Given the description of an element on the screen output the (x, y) to click on. 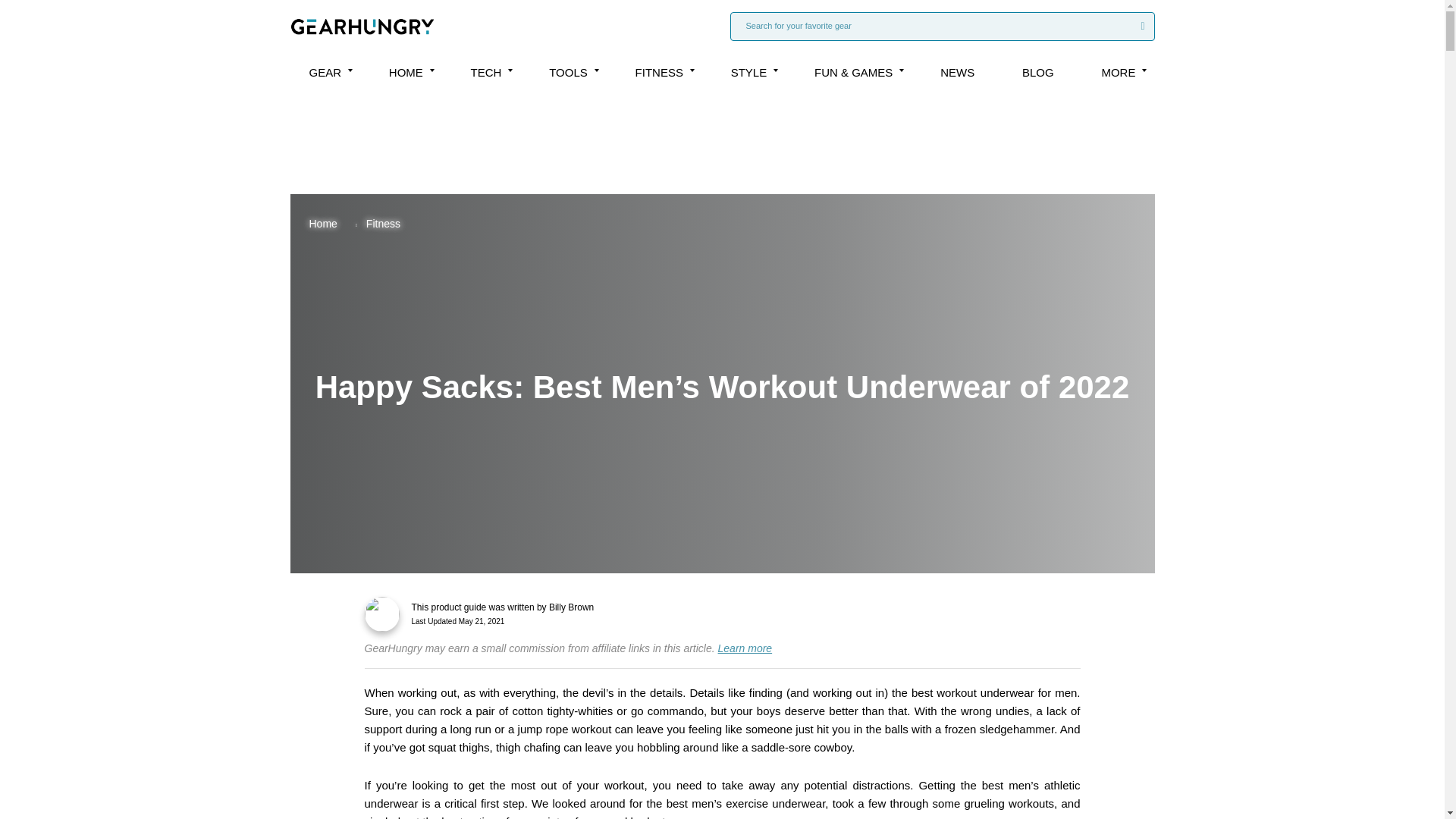
FITNESS (658, 72)
TOOLS (568, 72)
HOME (405, 72)
TECH (486, 72)
GEAR (324, 72)
